Given the description of an element on the screen output the (x, y) to click on. 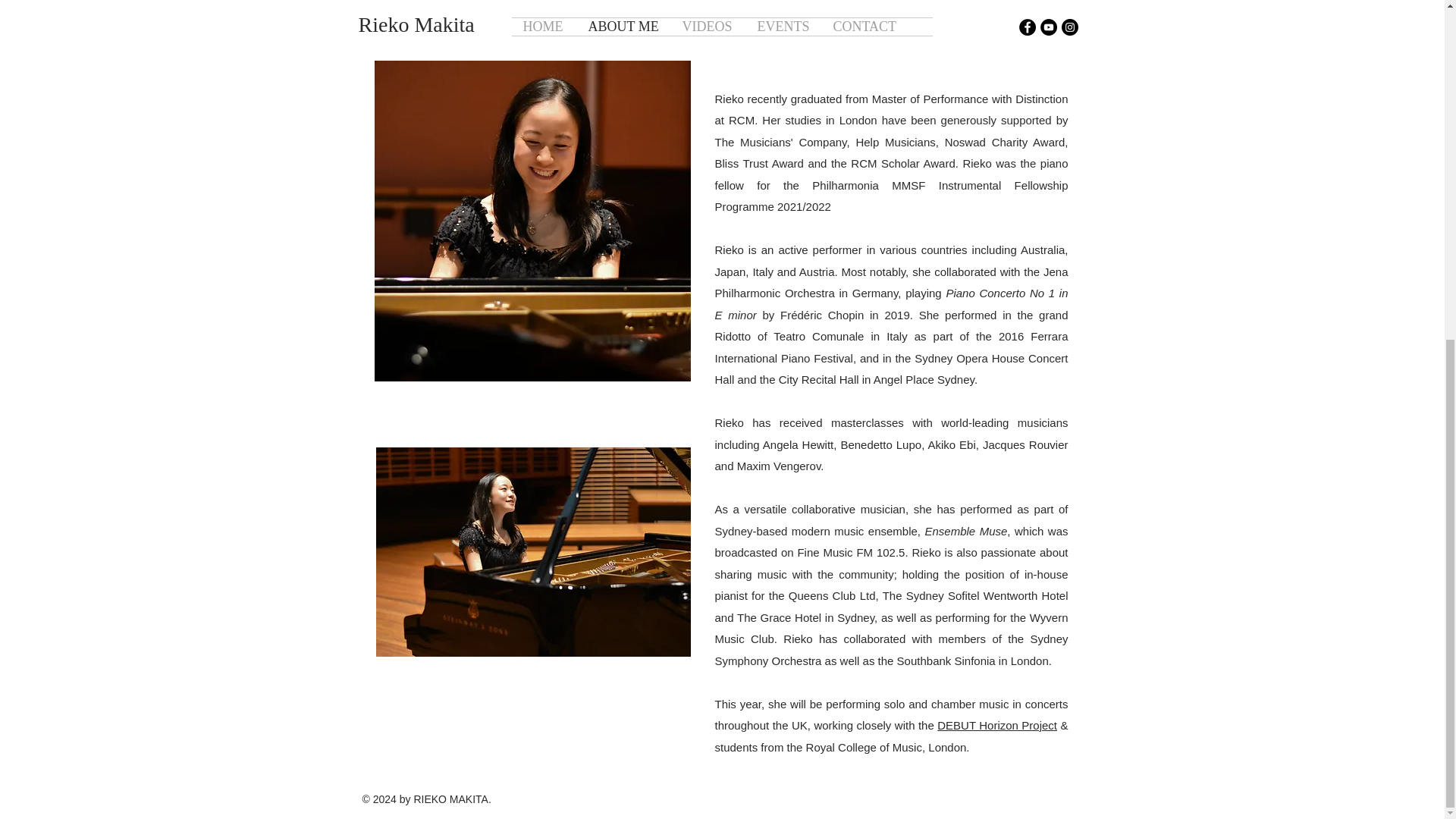
DEBUT Horizon Project (997, 725)
